Given the description of an element on the screen output the (x, y) to click on. 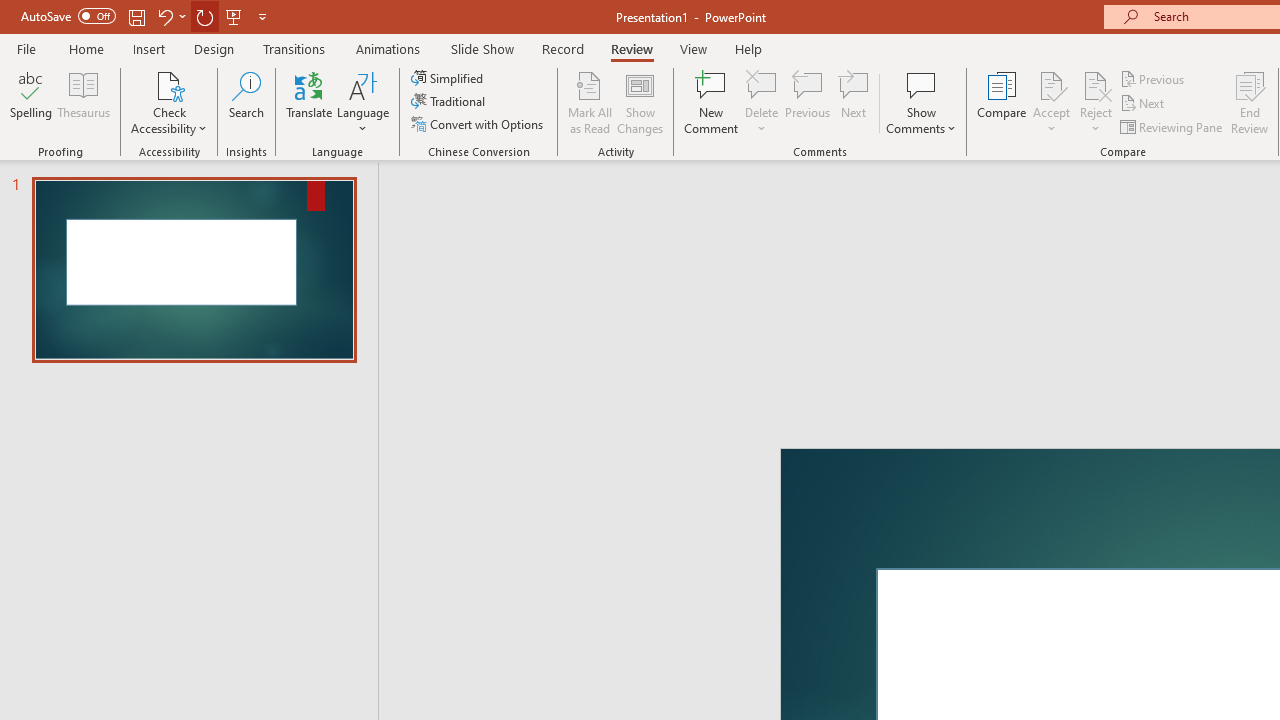
Compare (1002, 102)
Next (1144, 103)
Translate (309, 102)
